Given the description of an element on the screen output the (x, y) to click on. 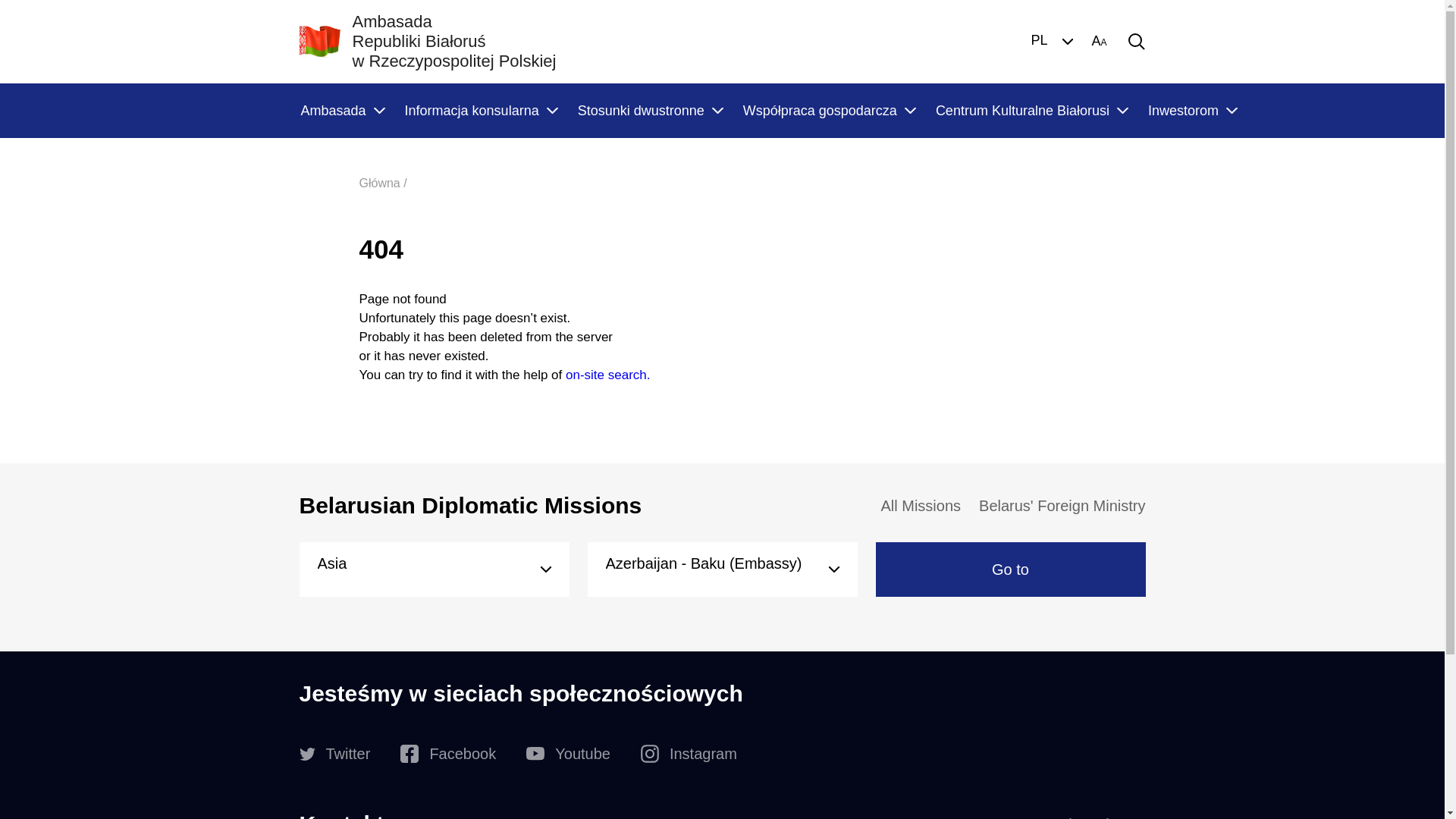
Ambasada Element type: text (341, 110)
Belarus' Foreign Ministry Element type: text (1062, 505)
Inwestorom Element type: text (1191, 110)
Instagram Element type: text (688, 753)
AA Element type: text (1098, 41)
Facebook Element type: text (447, 753)
Informacja konsularna Element type: text (480, 110)
Stosunki dwustronne Element type: text (649, 110)
on-site search. Element type: text (607, 374)
Twitter Element type: text (334, 753)
Youtube Element type: text (568, 753)
Go to Element type: text (1010, 569)
All Missions Element type: text (920, 505)
